Given the description of an element on the screen output the (x, y) to click on. 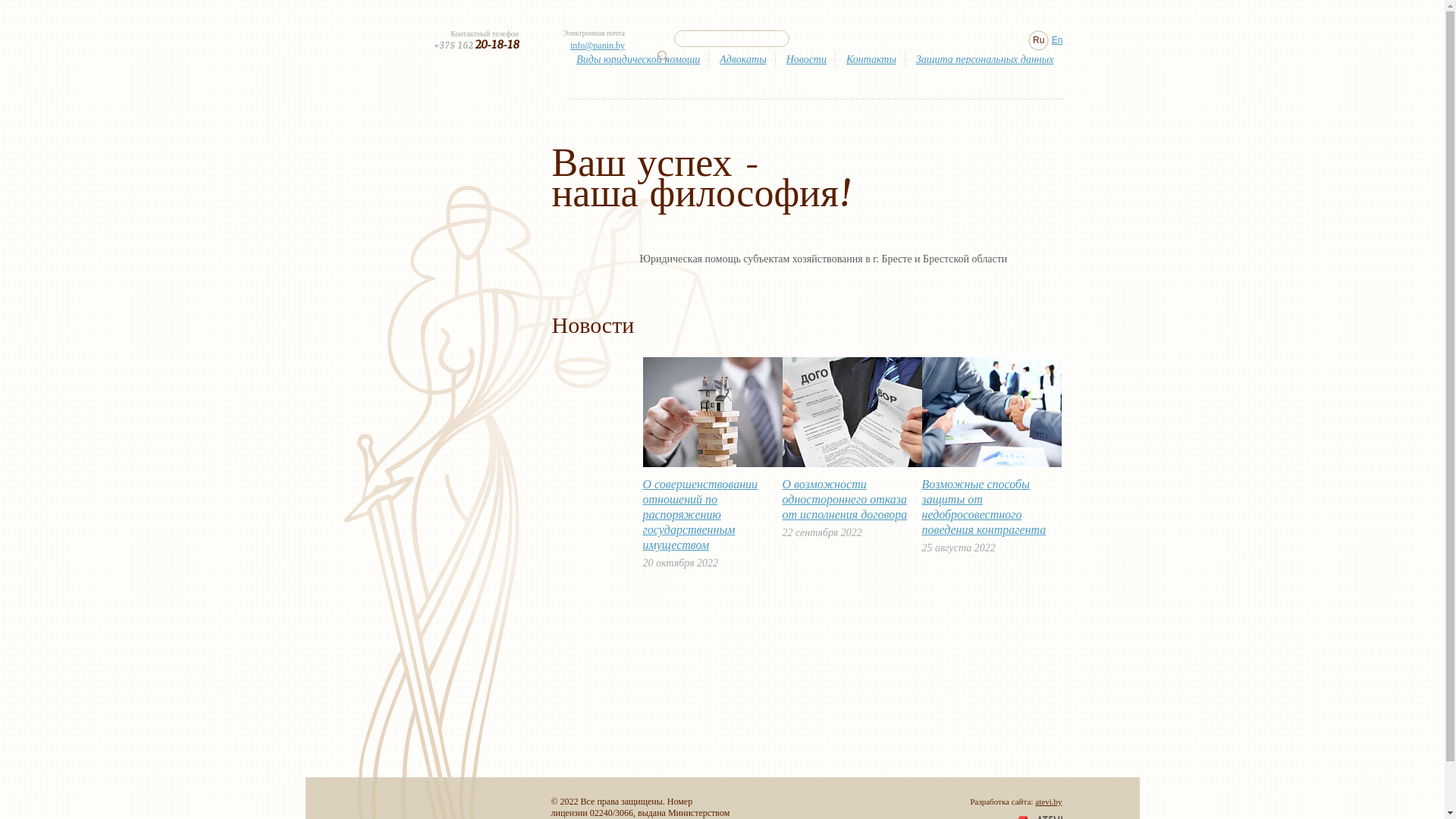
Ru Element type: text (1038, 40)
En Element type: text (1056, 40)
atevi.by Element type: text (1048, 801)
info@panin.by Element type: text (597, 45)
